Given the description of an element on the screen output the (x, y) to click on. 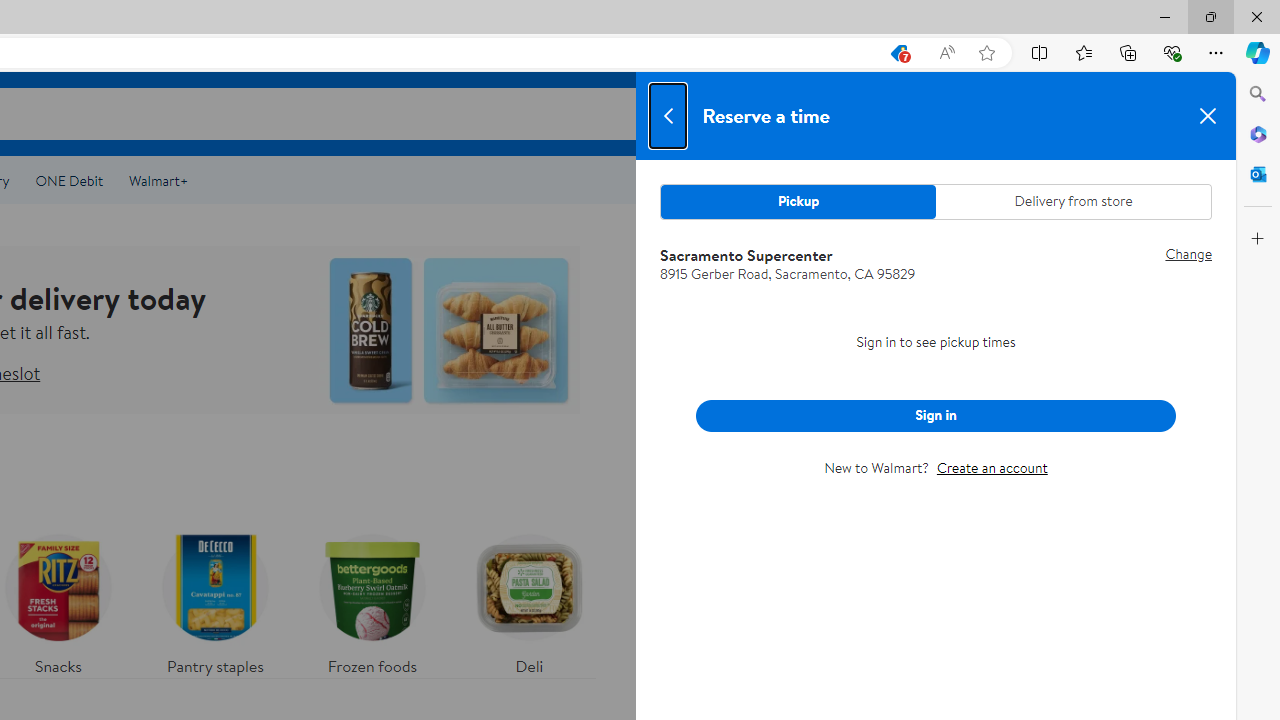
Walmart+ (158, 180)
close panel (1207, 115)
Deli (529, 599)
Sign In Account (1088, 113)
Walmart+ (158, 180)
Pickup, selected (797, 201)
Change store (1180, 253)
Cart contains 0 items Total Amount $0.00 (1182, 113)
